Given the description of an element on the screen output the (x, y) to click on. 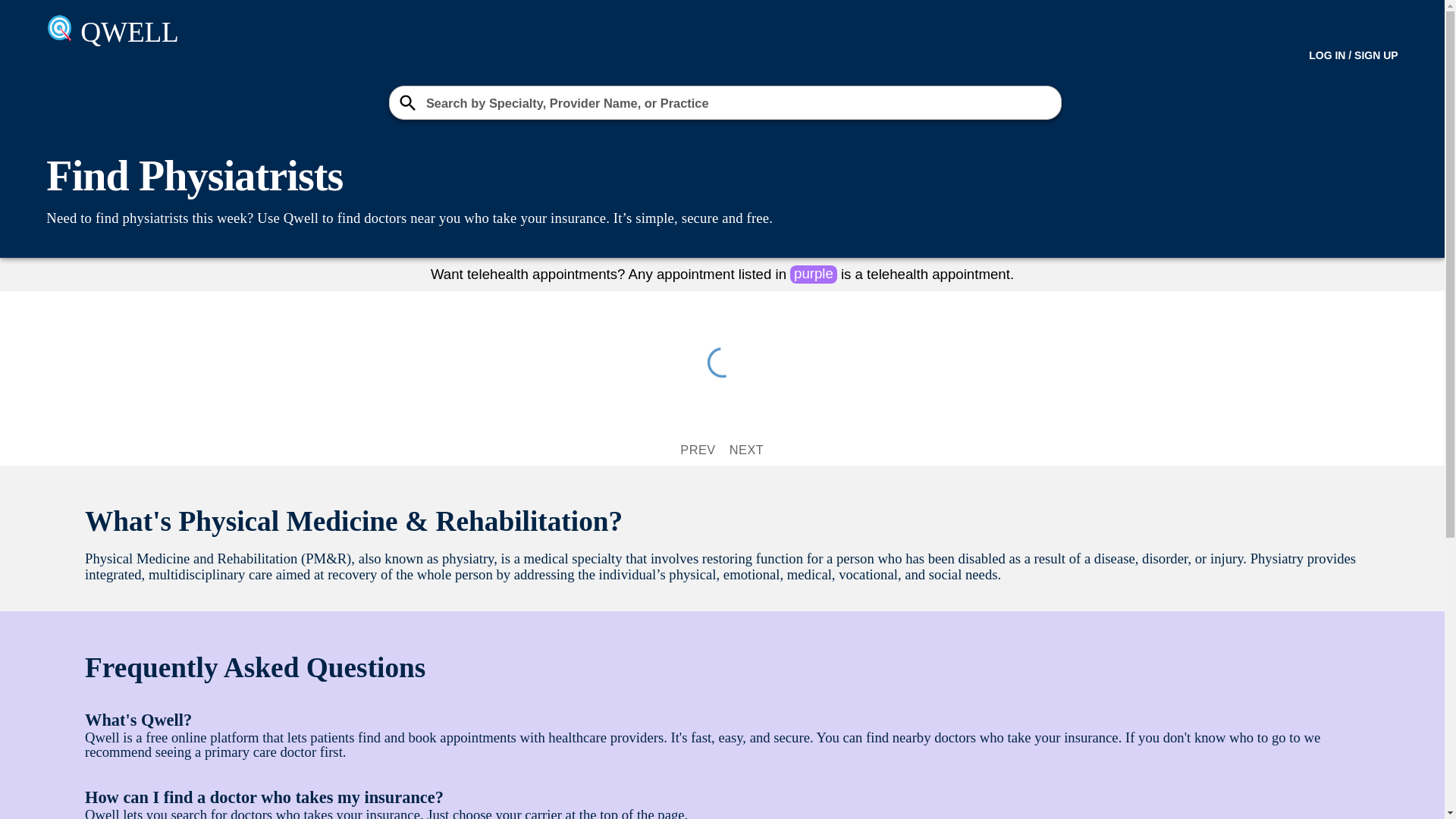
QWELL (496, 31)
NEXT (746, 450)
PREV (697, 450)
